Given the description of an element on the screen output the (x, y) to click on. 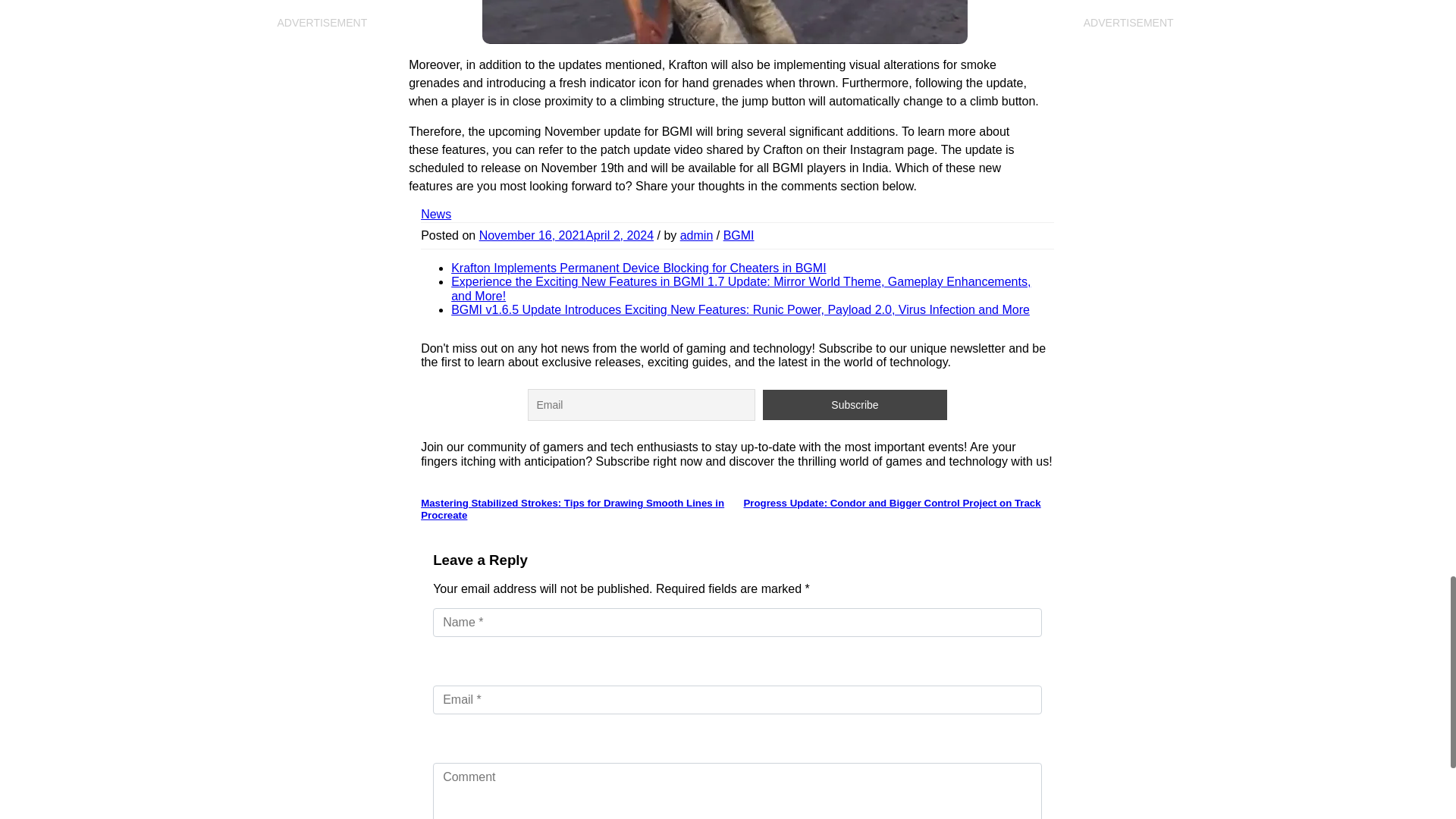
Subscribe (854, 404)
BGMI (738, 235)
News (435, 214)
admin (696, 235)
Subscribe (854, 404)
November 16, 2021April 2, 2024 (566, 235)
